Given the description of an element on the screen output the (x, y) to click on. 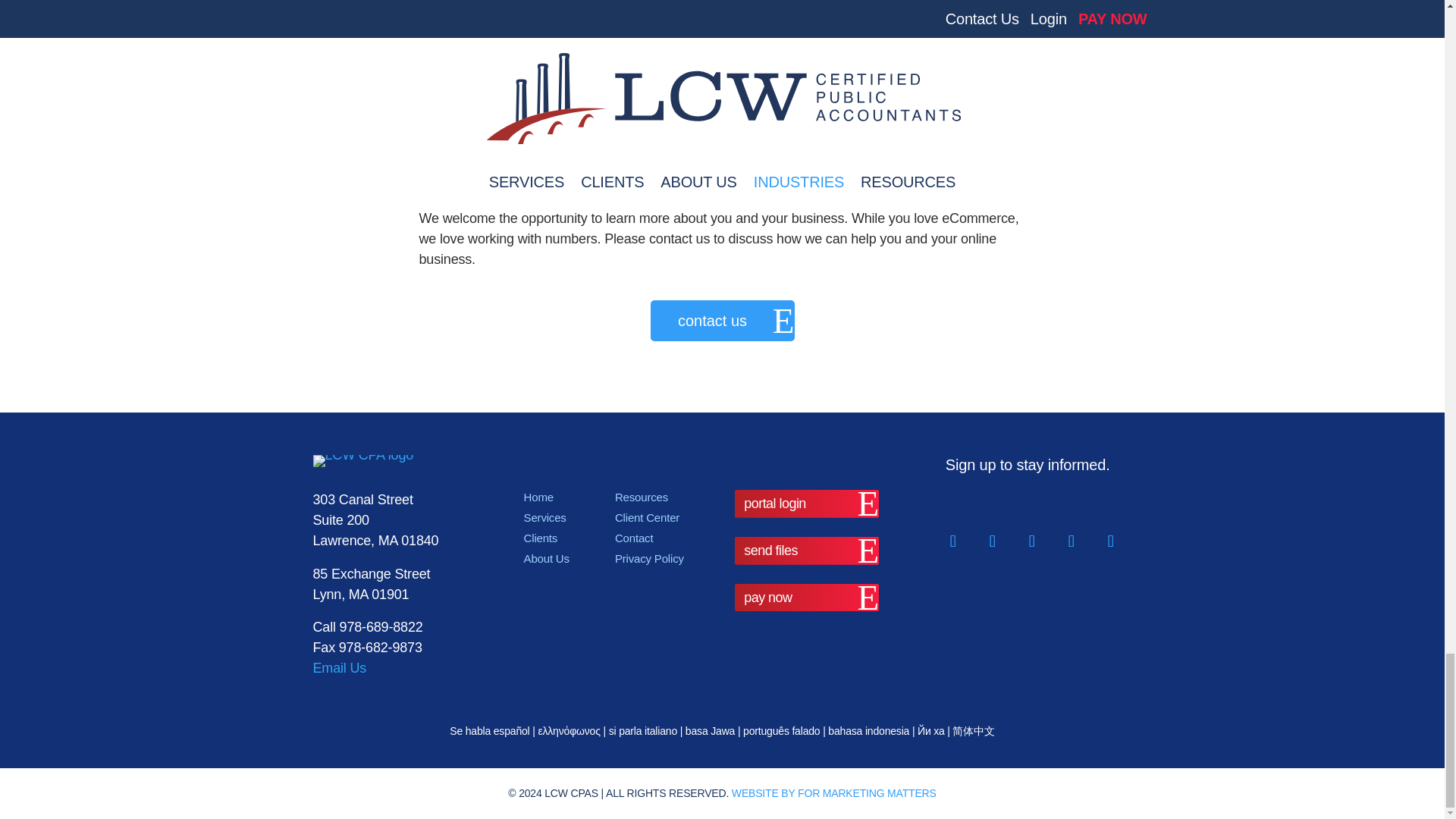
Follow on Youtube (1110, 540)
Follow on LinkedIn (992, 540)
Follow on Facebook (952, 540)
Follow on X (1031, 540)
Follow on Instagram (1070, 540)
